Given the description of an element on the screen output the (x, y) to click on. 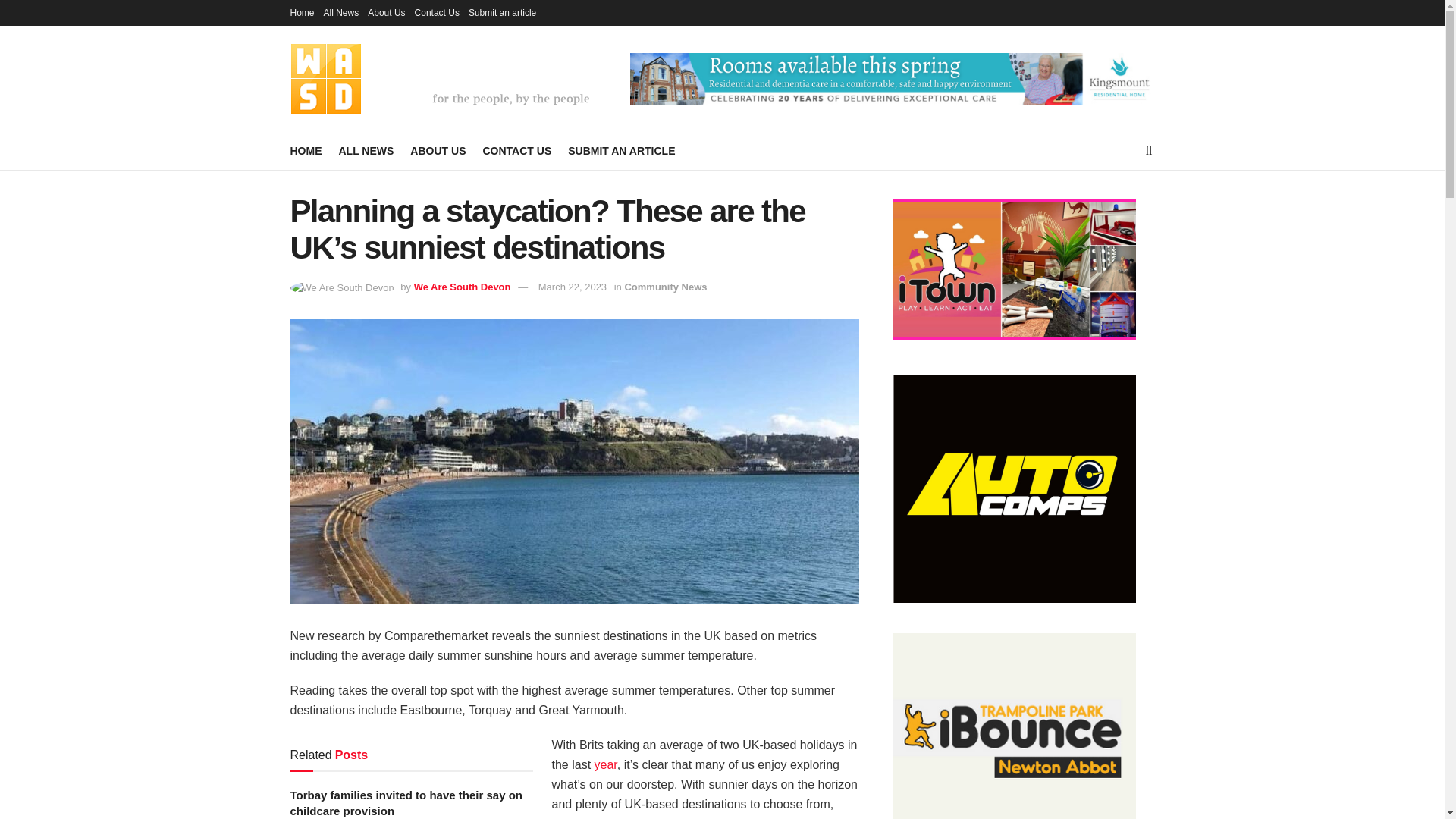
SUBMIT AN ARTICLE (621, 150)
HOME (305, 150)
Submit an article (501, 12)
year (605, 764)
ABOUT US (437, 150)
Community News (665, 286)
We Are South Devon (462, 286)
ALL NEWS (365, 150)
March 22, 2023 (572, 286)
CONTACT US (516, 150)
All News (341, 12)
About Us (386, 12)
Home (301, 12)
Contact Us (437, 12)
